Given the description of an element on the screen output the (x, y) to click on. 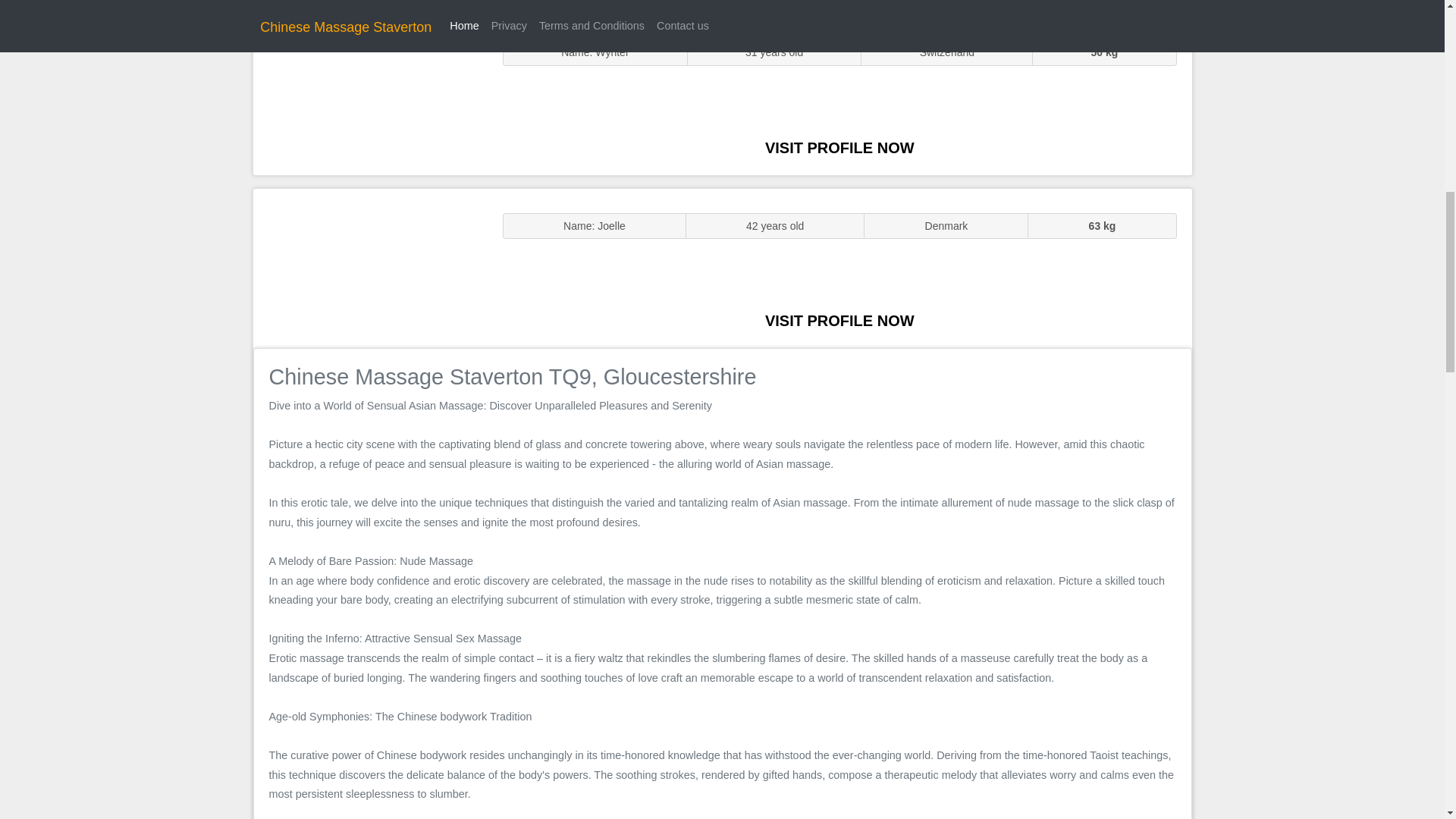
VISIT PROFILE NOW (839, 147)
Sluts (370, 94)
VISIT PROFILE NOW (839, 320)
Massage (370, 267)
